Given the description of an element on the screen output the (x, y) to click on. 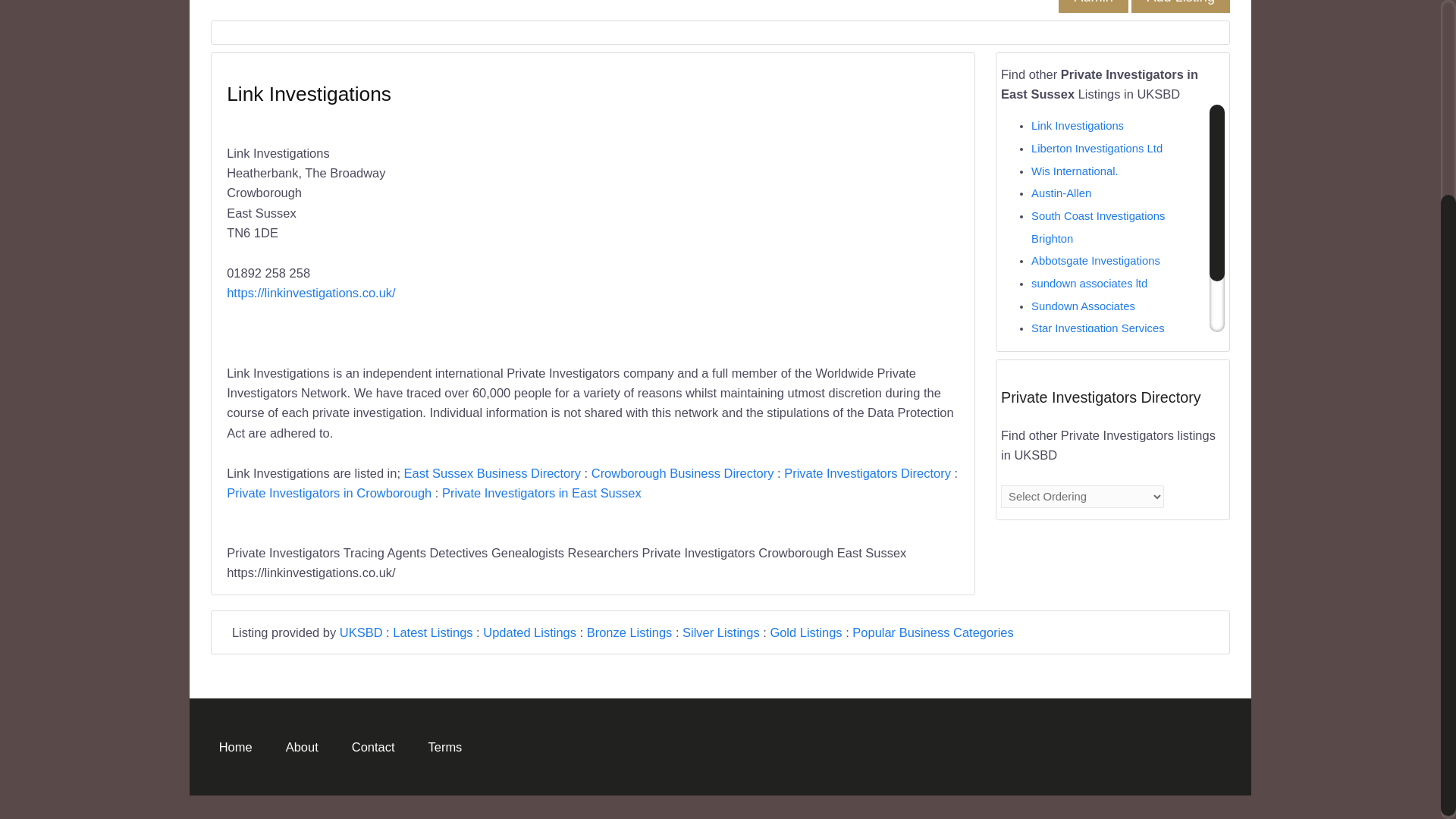
Admin (1092, 2)
Private Investigators in Crowborough (328, 492)
Private Investigators in East Sussex (542, 492)
Latest Listings (432, 632)
Private Investigators Directory (867, 472)
Bronze Listings (629, 632)
Abbotsgate Investigations (1095, 260)
Austin-Allen (1060, 193)
Star Investigation Services (1097, 328)
Gold Listings (805, 632)
